Given the description of an element on the screen output the (x, y) to click on. 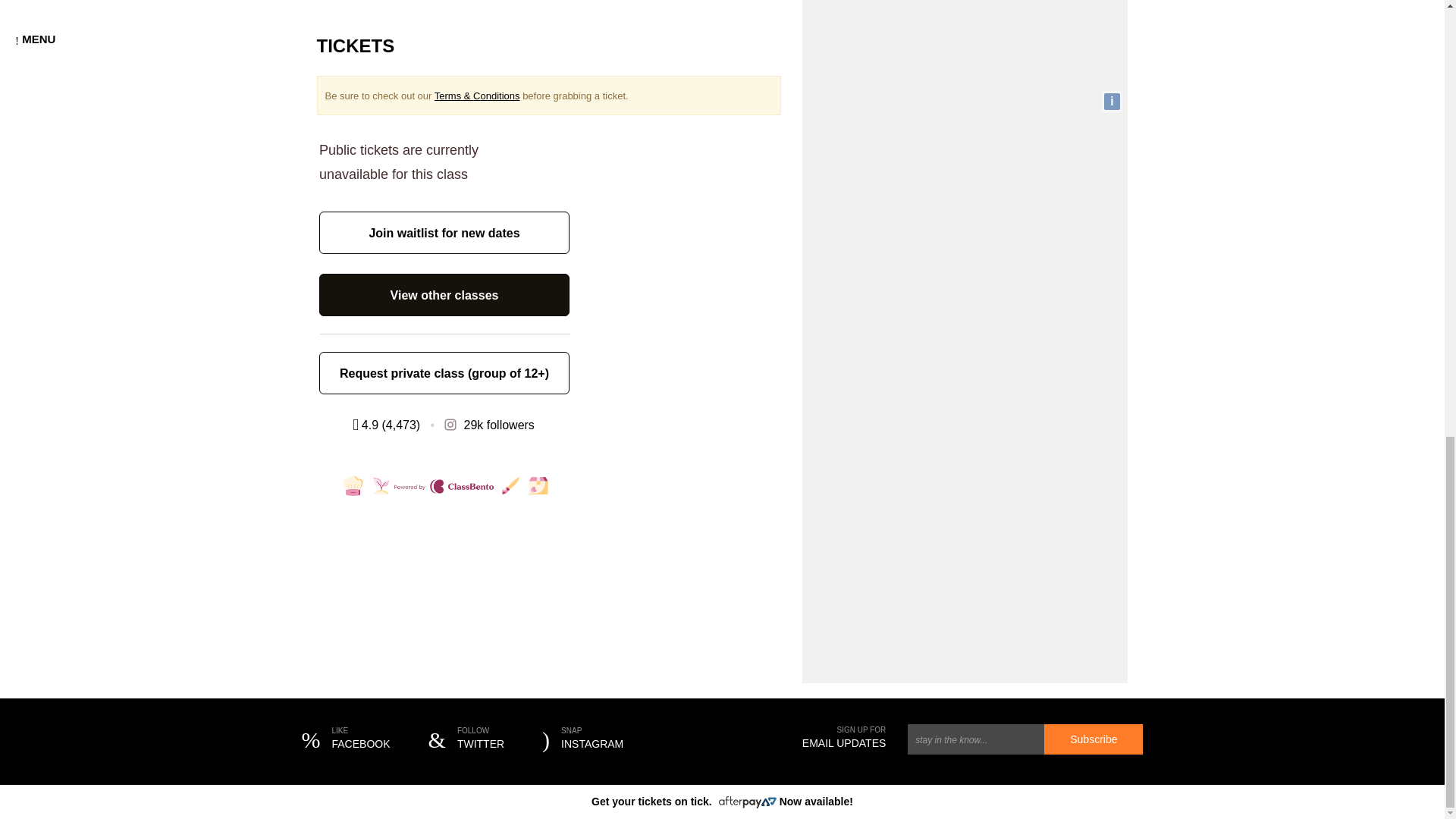
Attributions (1112, 101)
i (345, 739)
Subscribe (466, 739)
Subscribe (1112, 101)
